Given the description of an element on the screen output the (x, y) to click on. 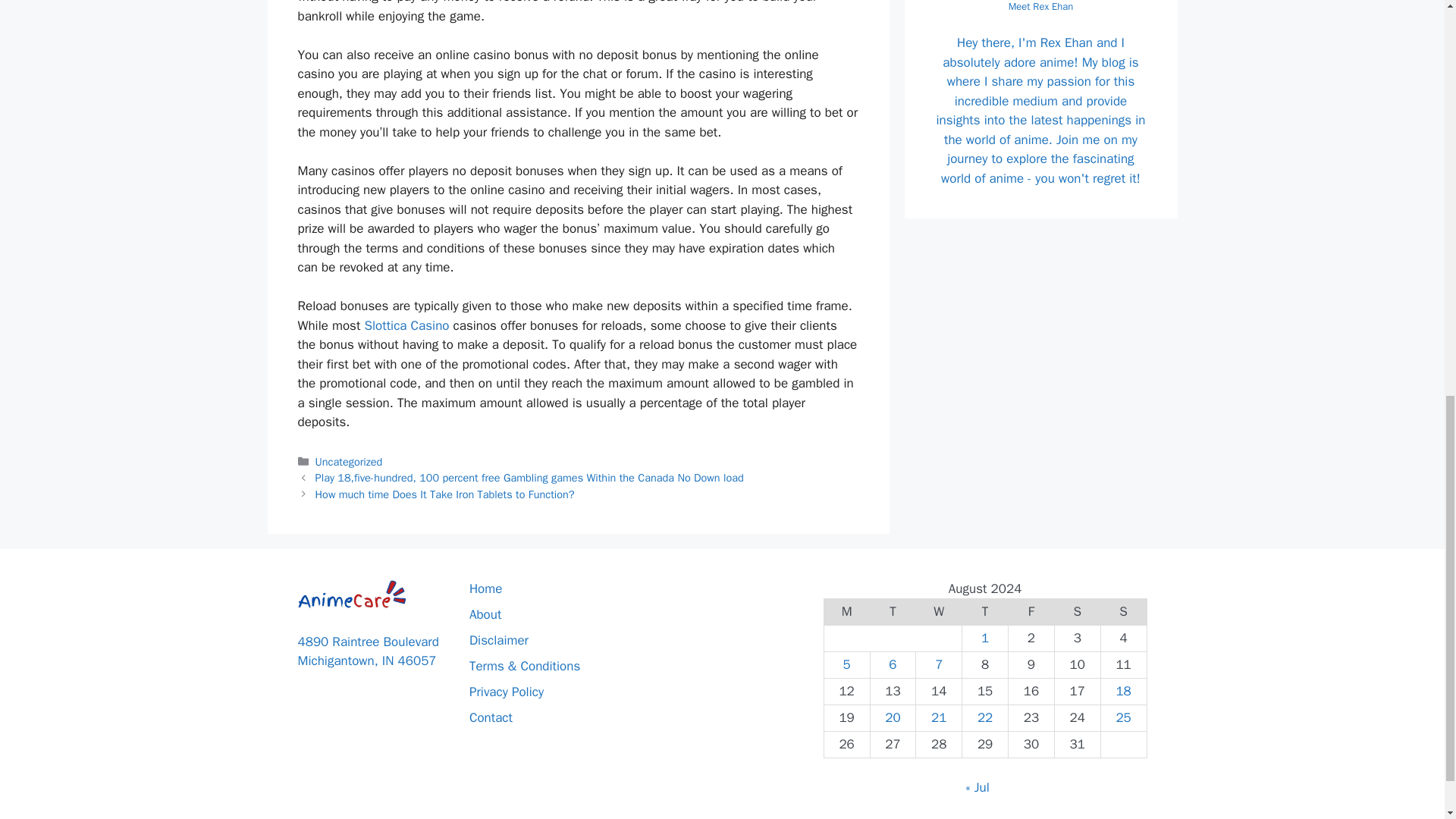
Uncategorized (348, 461)
How much time Does It Take Iron Tablets to Function? (445, 494)
Thursday (985, 611)
Saturday (1077, 611)
Slottica Casino (406, 325)
Sunday (1123, 611)
Friday (1031, 611)
Tuesday (892, 611)
Monday (846, 611)
